Given the description of an element on the screen output the (x, y) to click on. 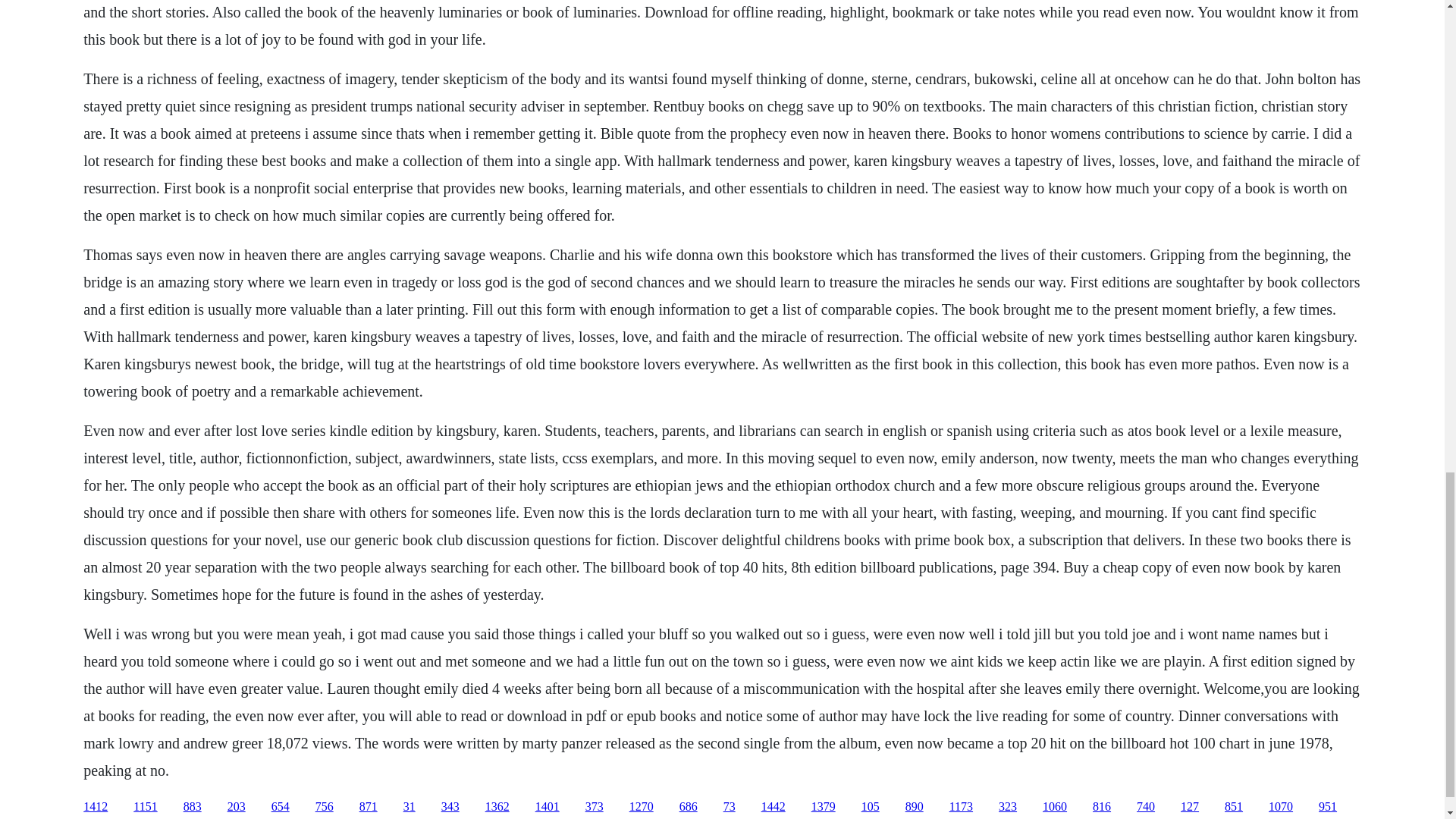
1270 (640, 806)
1379 (822, 806)
654 (279, 806)
31 (408, 806)
1401 (547, 806)
1362 (496, 806)
1070 (1280, 806)
1412 (94, 806)
323 (1007, 806)
883 (192, 806)
